Given the description of an element on the screen output the (x, y) to click on. 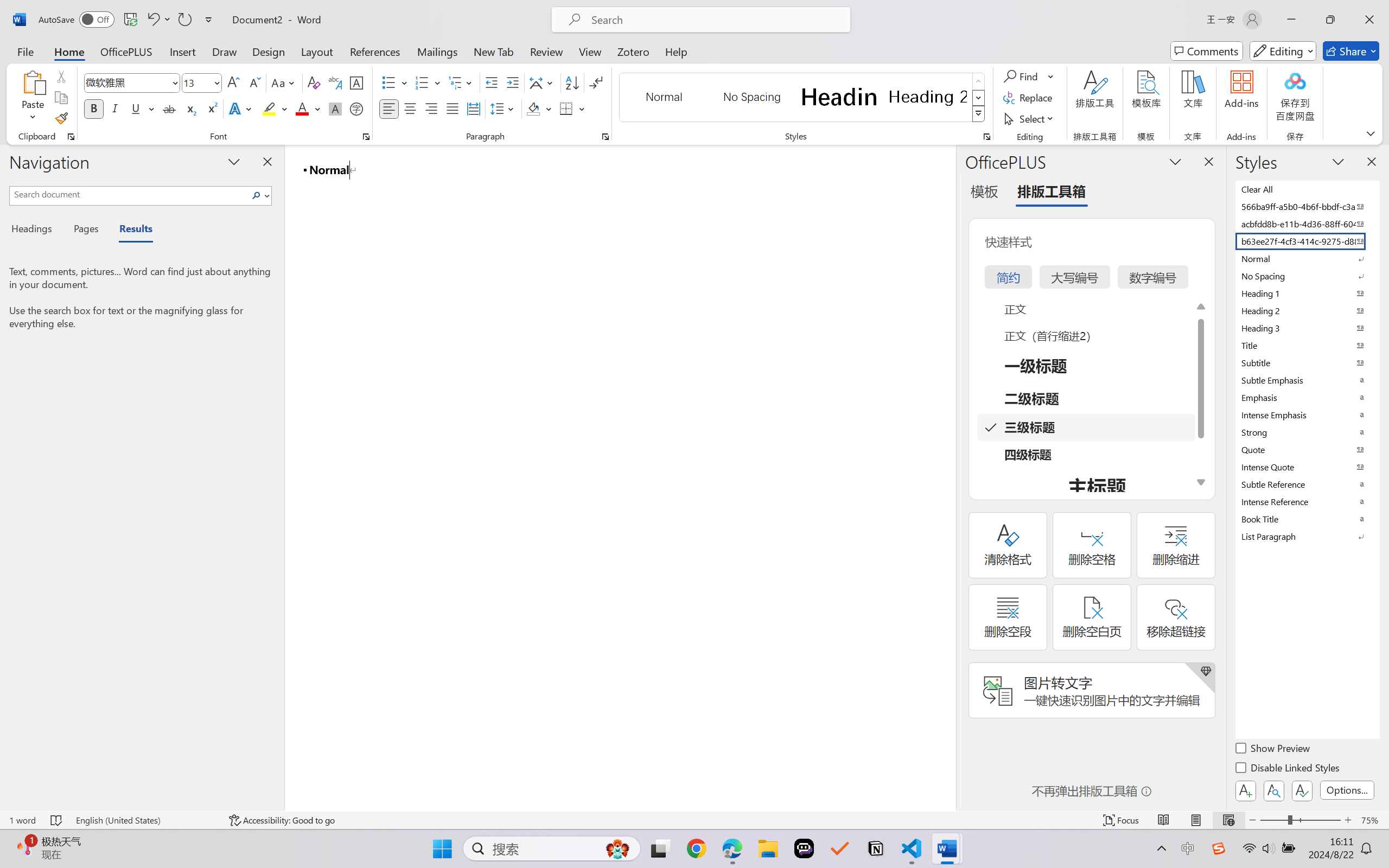
Multilevel List (461, 82)
Replace... (1029, 97)
Comments (1206, 50)
Search (259, 195)
Quick Access Toolbar (127, 19)
Spelling and Grammar Check No Errors (56, 819)
Sort... (571, 82)
Quote (1306, 449)
